Given the description of an element on the screen output the (x, y) to click on. 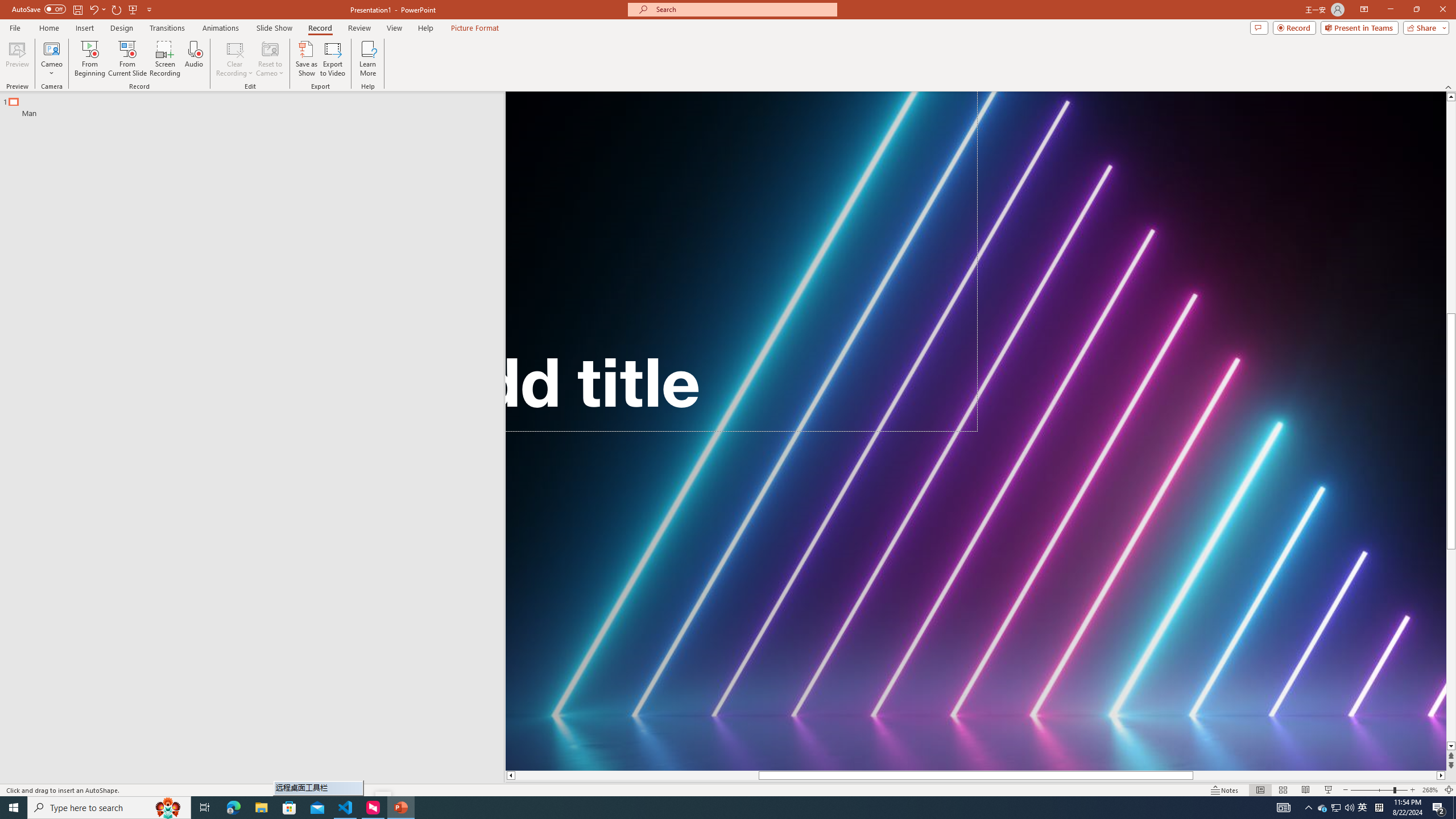
Picture Format (475, 28)
